Given the description of an element on the screen output the (x, y) to click on. 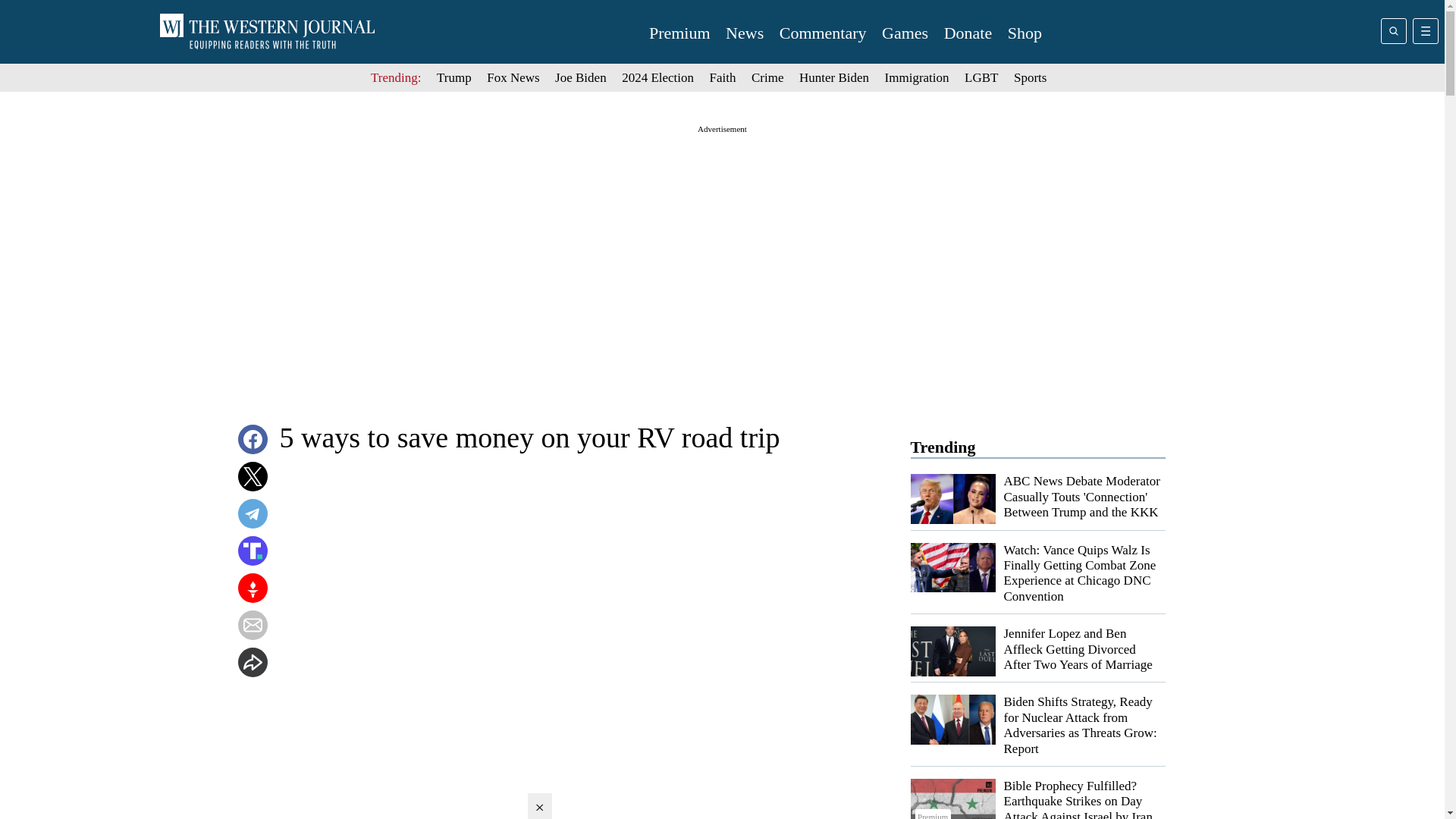
Donate (967, 32)
Hunter Biden (834, 77)
2024 Election (657, 77)
Shop (1024, 32)
Games (905, 32)
Joe Biden (580, 77)
LGBT (980, 77)
Trump (453, 77)
